Given the description of an element on the screen output the (x, y) to click on. 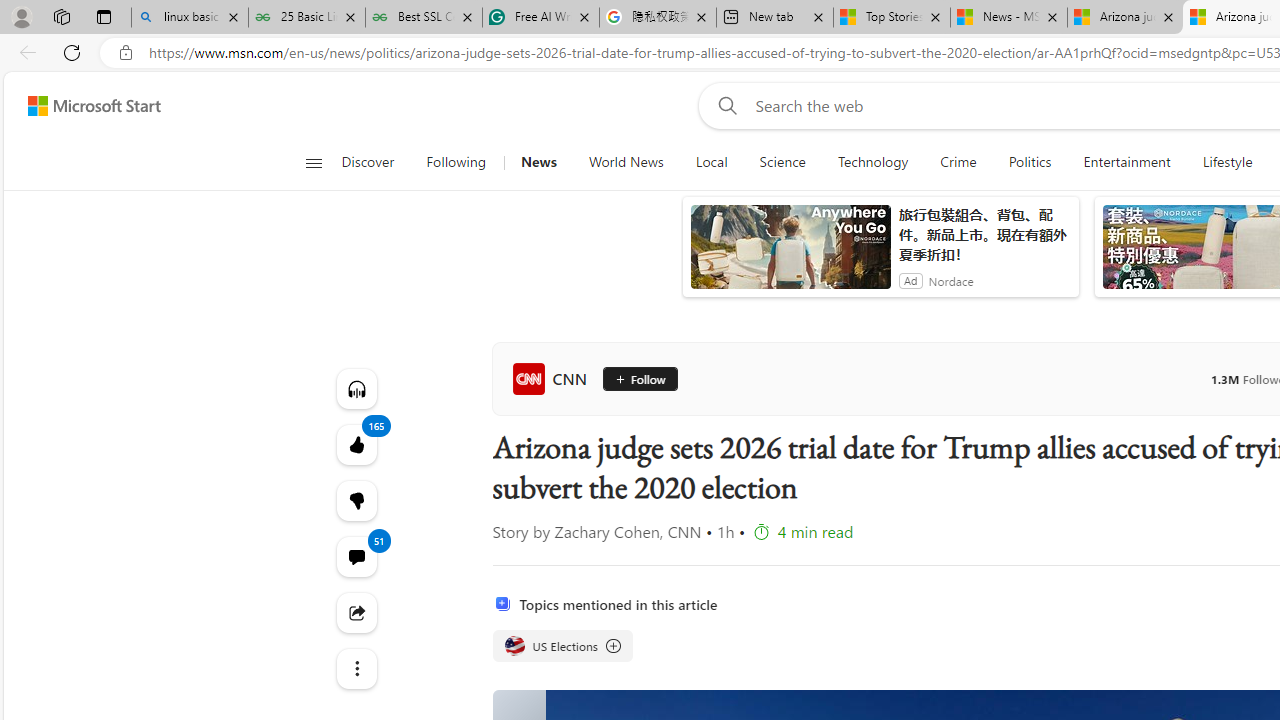
Technology (872, 162)
US Elections (514, 645)
Best SSL Certificates Provider in India - GeeksforGeeks (424, 17)
anim-content (789, 255)
Skip to footer (82, 105)
25 Basic Linux Commands For Beginners - GeeksforGeeks (306, 17)
Science (782, 162)
Skip to content (86, 105)
Local (710, 162)
Politics (1030, 162)
